Given the description of an element on the screen output the (x, y) to click on. 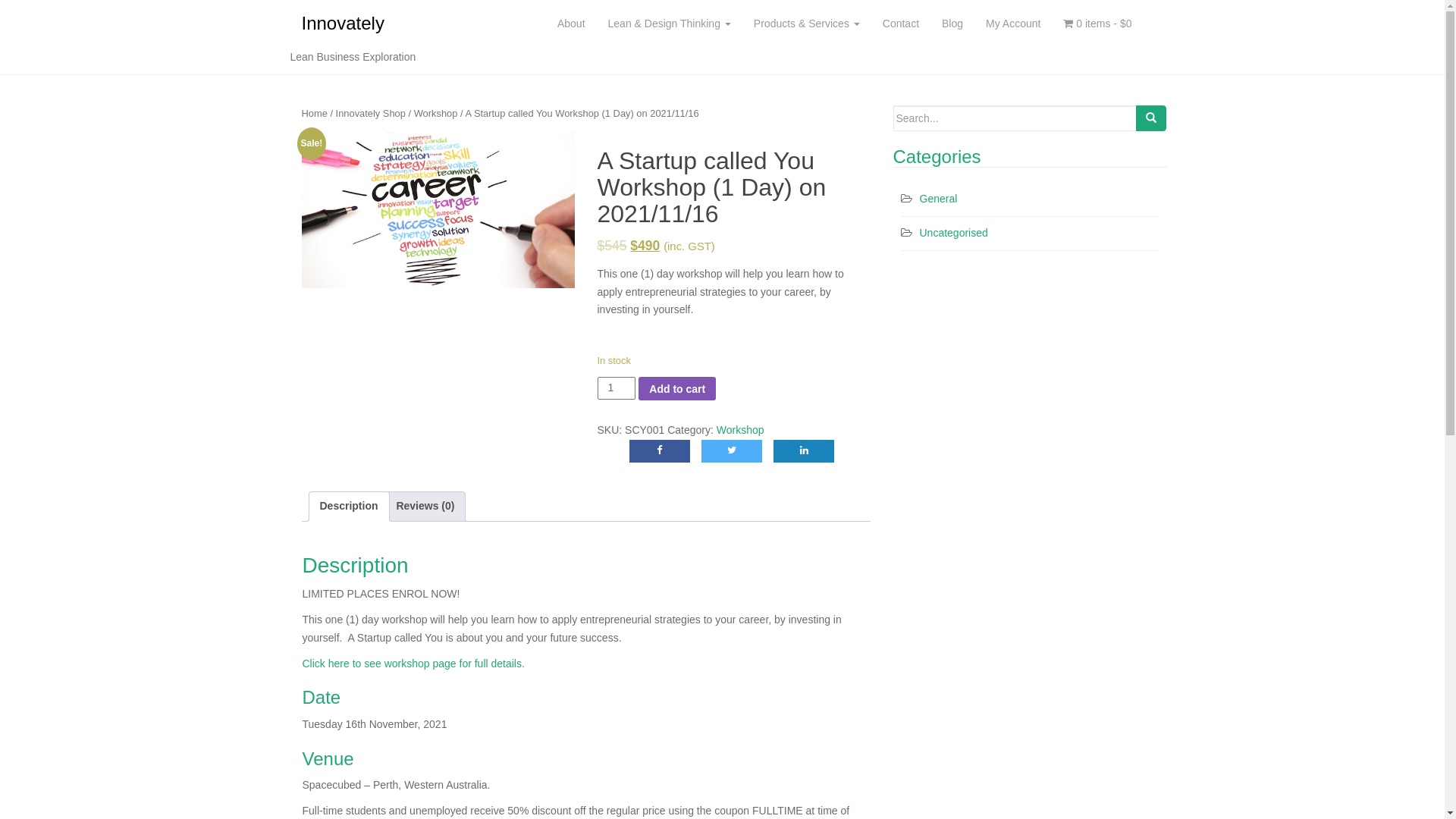
General Element type: text (938, 198)
Add to cart Element type: text (676, 388)
Description Element type: text (349, 506)
Home Element type: text (314, 113)
Reviews (0) Element type: text (424, 506)
Search Element type: text (1150, 118)
Click here to see workshop page for full details. Element type: text (412, 663)
Workshop Element type: text (740, 429)
Uncategorised Element type: text (953, 232)
Workshop Element type: text (436, 113)
4-Ways-to-Take-Your-Career-to-the-Next-Level Element type: hover (437, 209)
Innovately Element type: text (342, 23)
Innovately Shop Element type: text (370, 113)
